Given the description of an element on the screen output the (x, y) to click on. 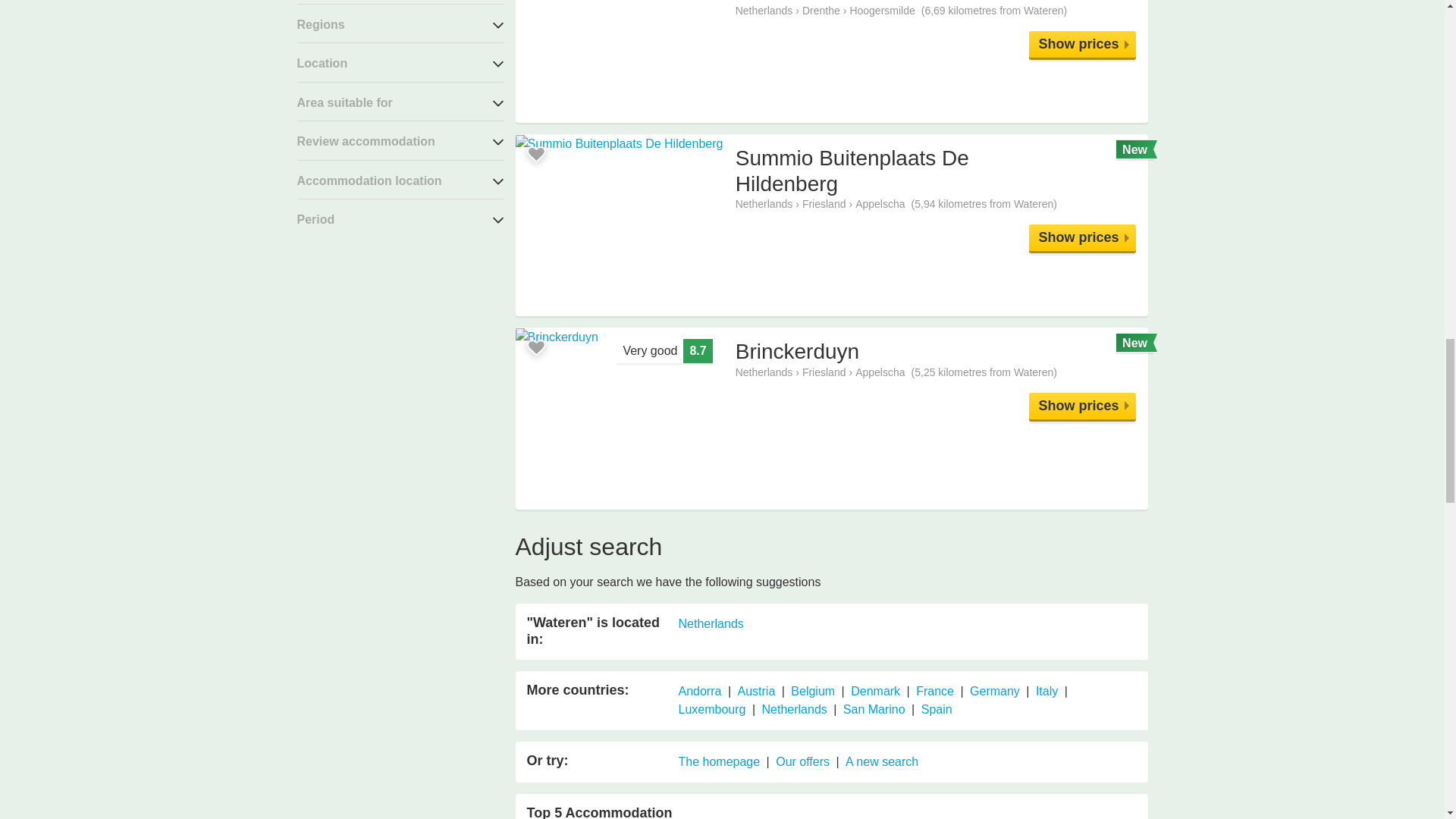
Summio Buitenplaats De Hildenberg (1082, 237)
Brinckerduyn (1082, 406)
Summio Bungalowpark Het Drentse Wold (1082, 44)
